Given the description of an element on the screen output the (x, y) to click on. 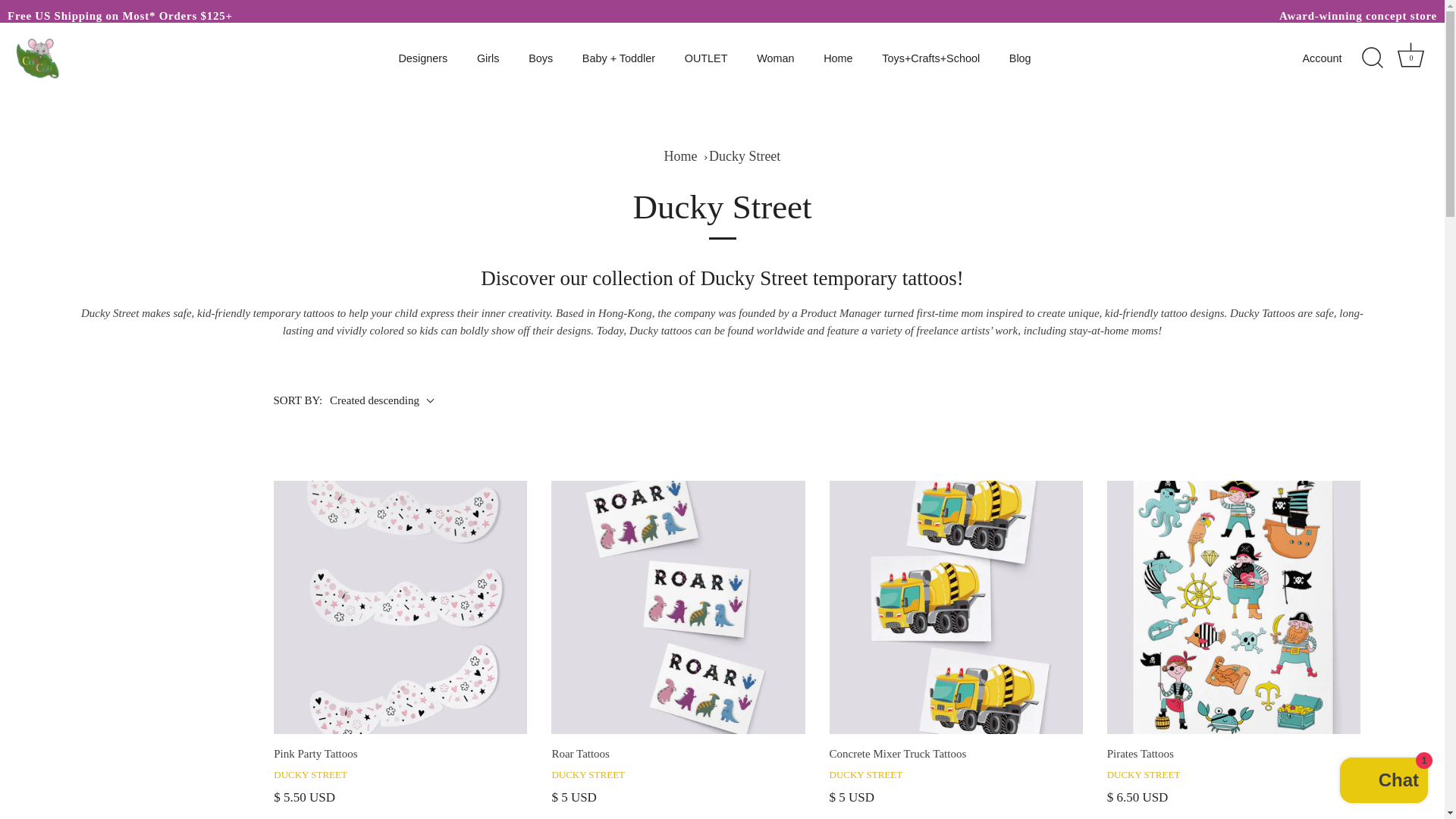
Shopify online store chat (1383, 781)
Cart (1410, 54)
Girls (488, 58)
Designers (422, 58)
